Given the description of an element on the screen output the (x, y) to click on. 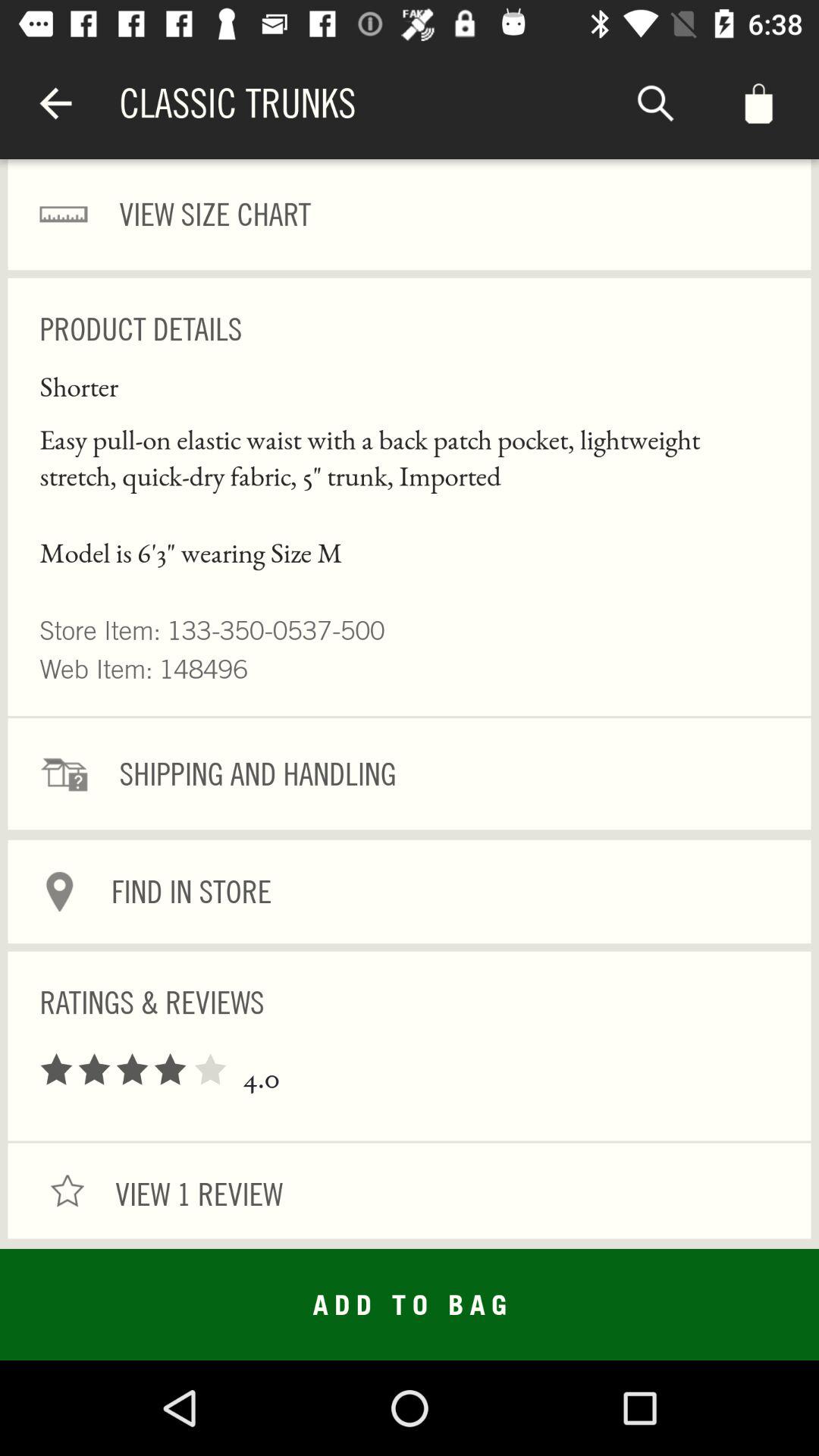
tap item to the left of the classic trunks icon (55, 103)
